Given the description of an element on the screen output the (x, y) to click on. 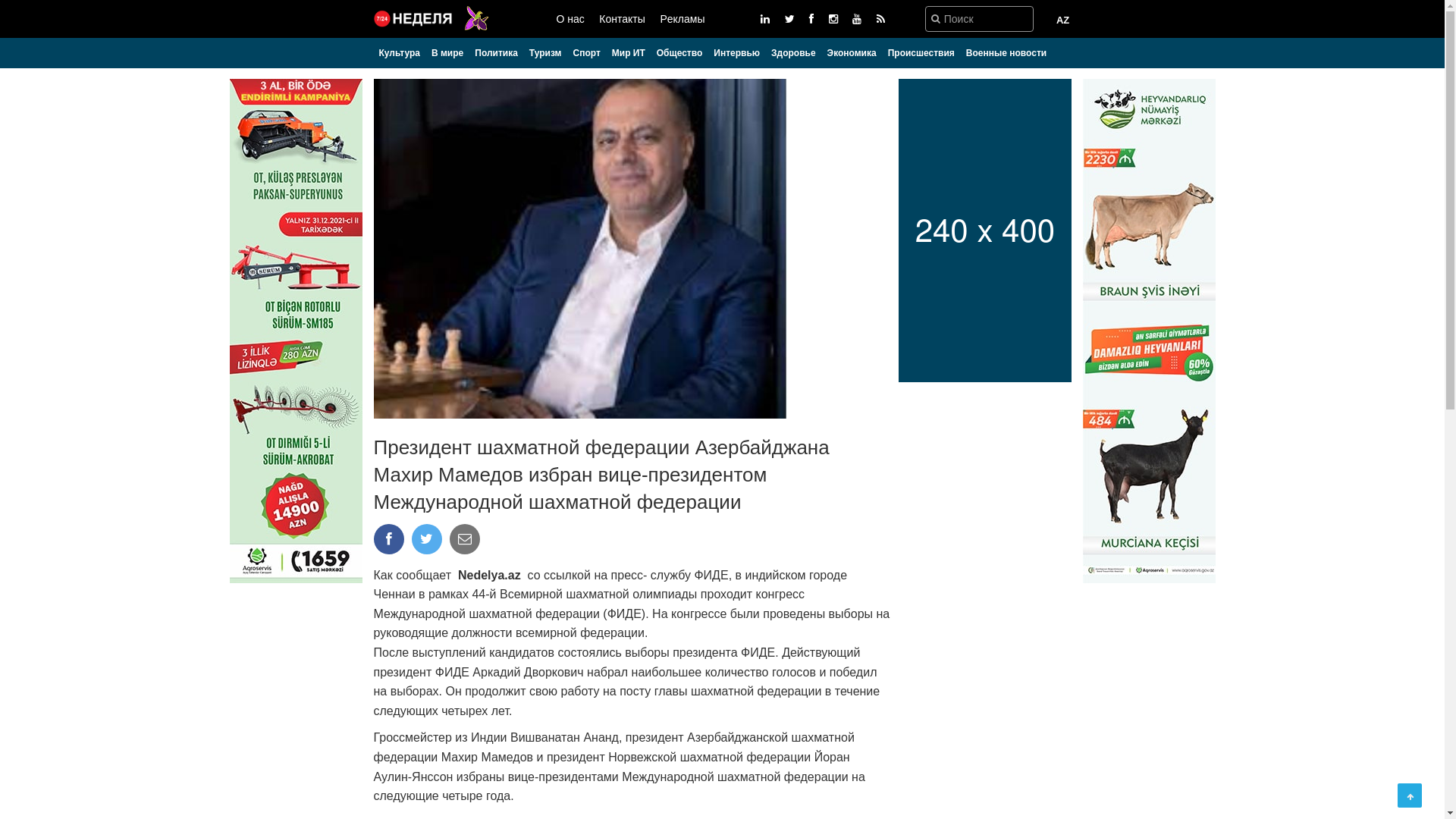
AZ Element type: text (1062, 19)
